Given the description of an element on the screen output the (x, y) to click on. 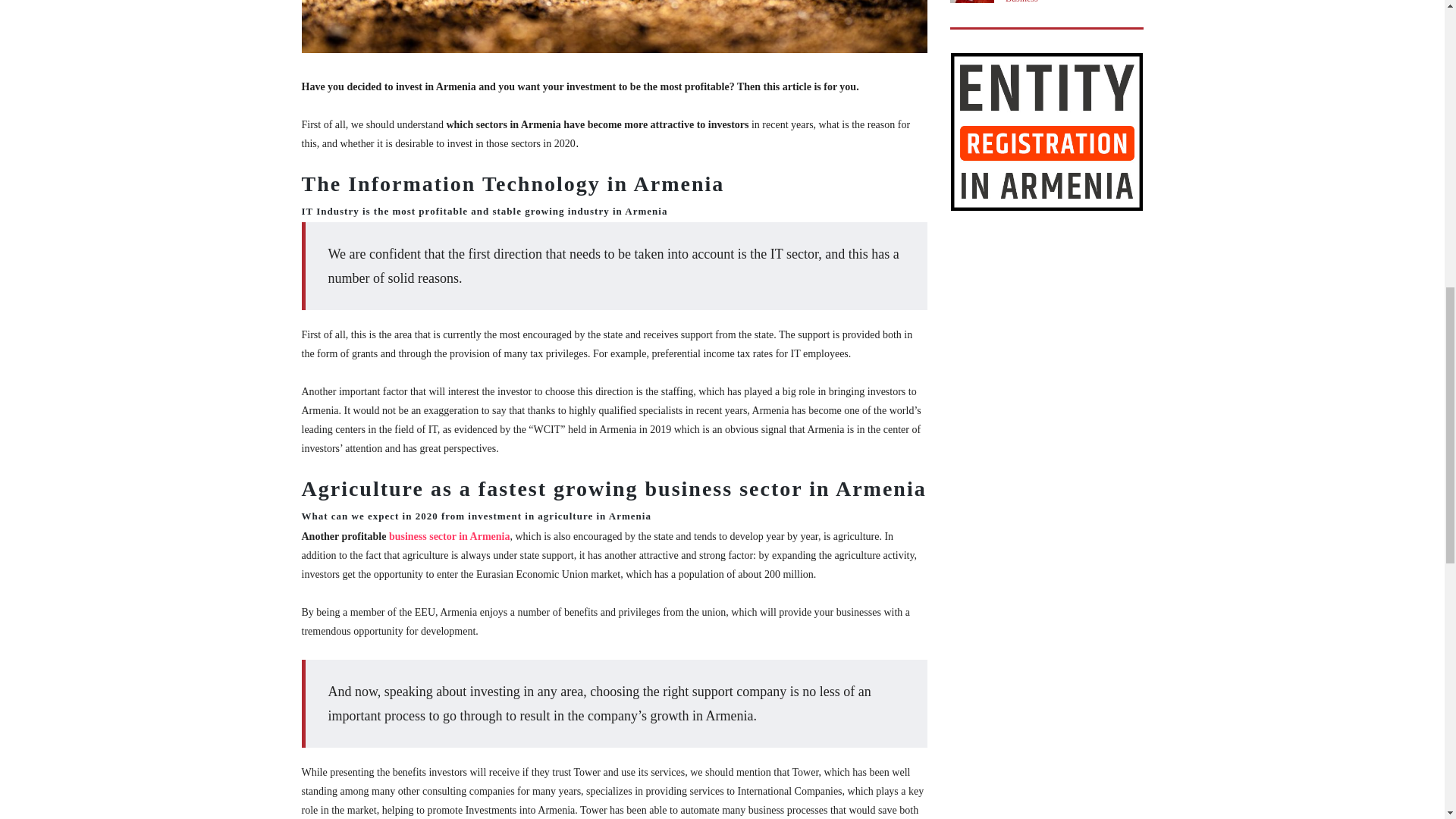
Questions related to doing business in Armenia (449, 536)
business sector in Armenia (449, 536)
